Given the description of an element on the screen output the (x, y) to click on. 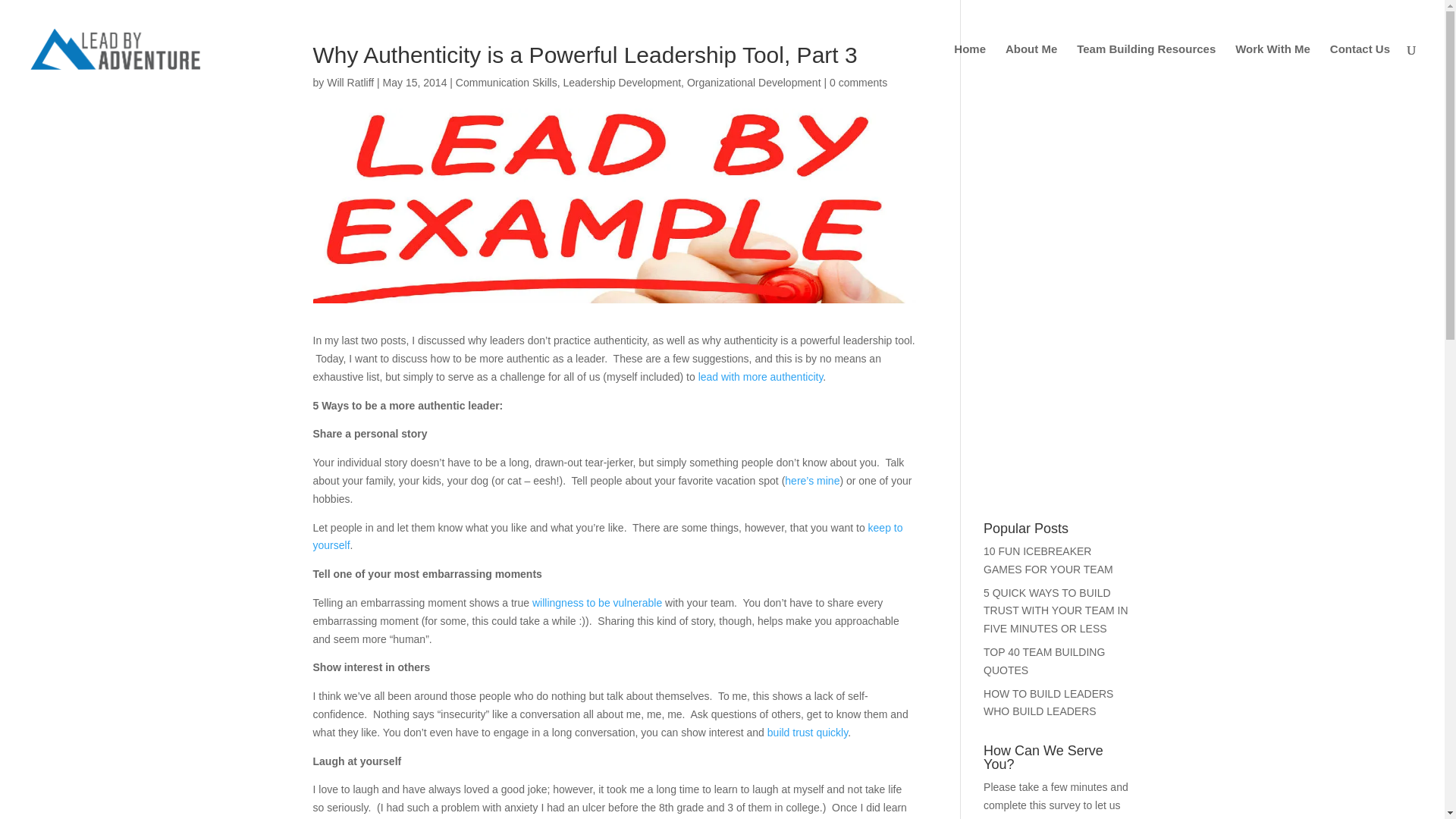
Work With Me (1272, 71)
Team Building Resources (1146, 71)
build trust quickly (807, 755)
TOP 40 TEAM BUILDING QUOTES (1044, 684)
Contact Us (1360, 71)
13 things to keep to yourself at work (607, 559)
Lead Authentically, Without Oversharing (761, 399)
Will Ratliff (350, 105)
Cayman Islands (812, 503)
Organizational Development (754, 105)
